Given the description of an element on the screen output the (x, y) to click on. 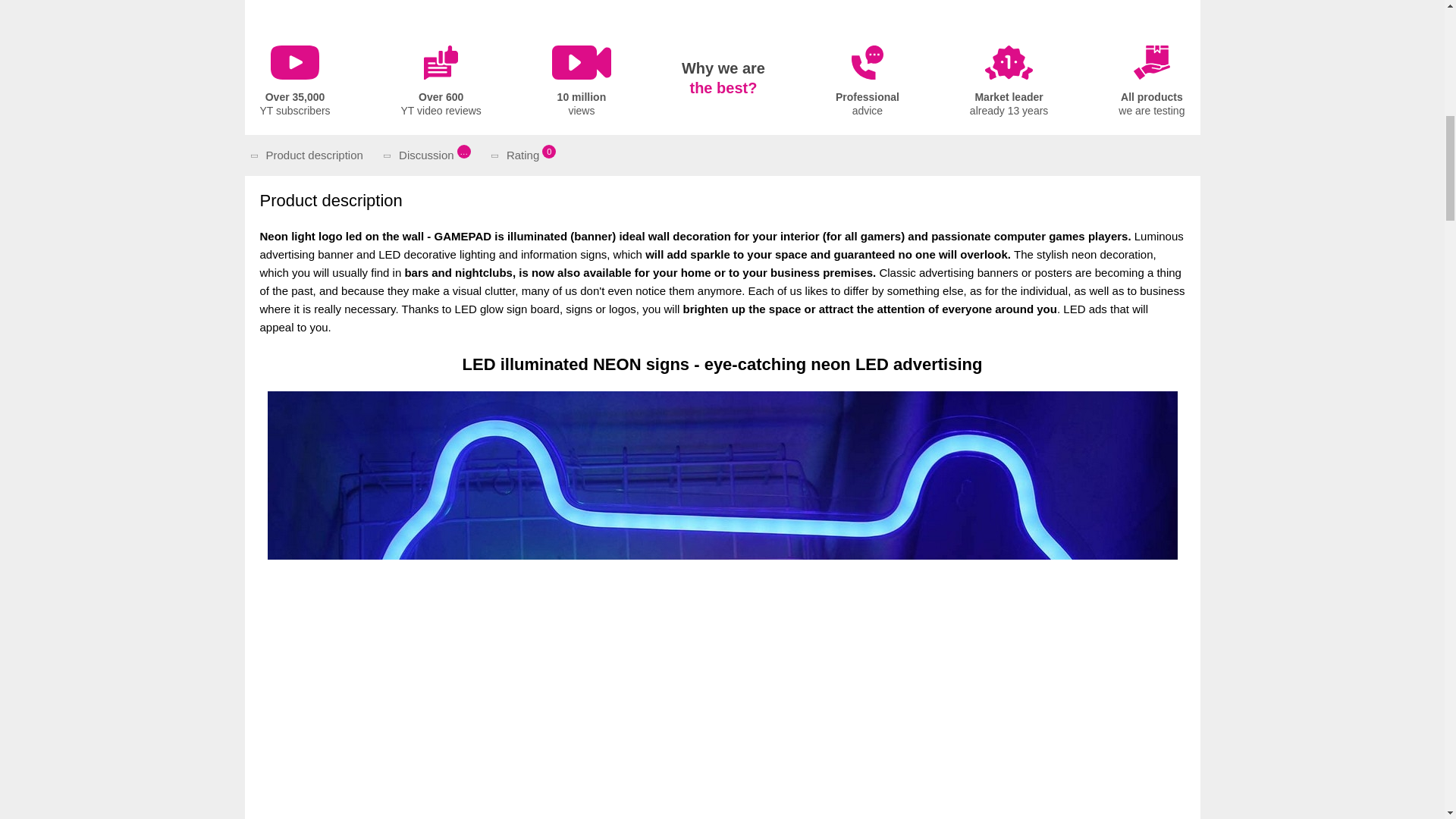
Rating 0 (294, 81)
Product description (525, 154)
